Given the description of an element on the screen output the (x, y) to click on. 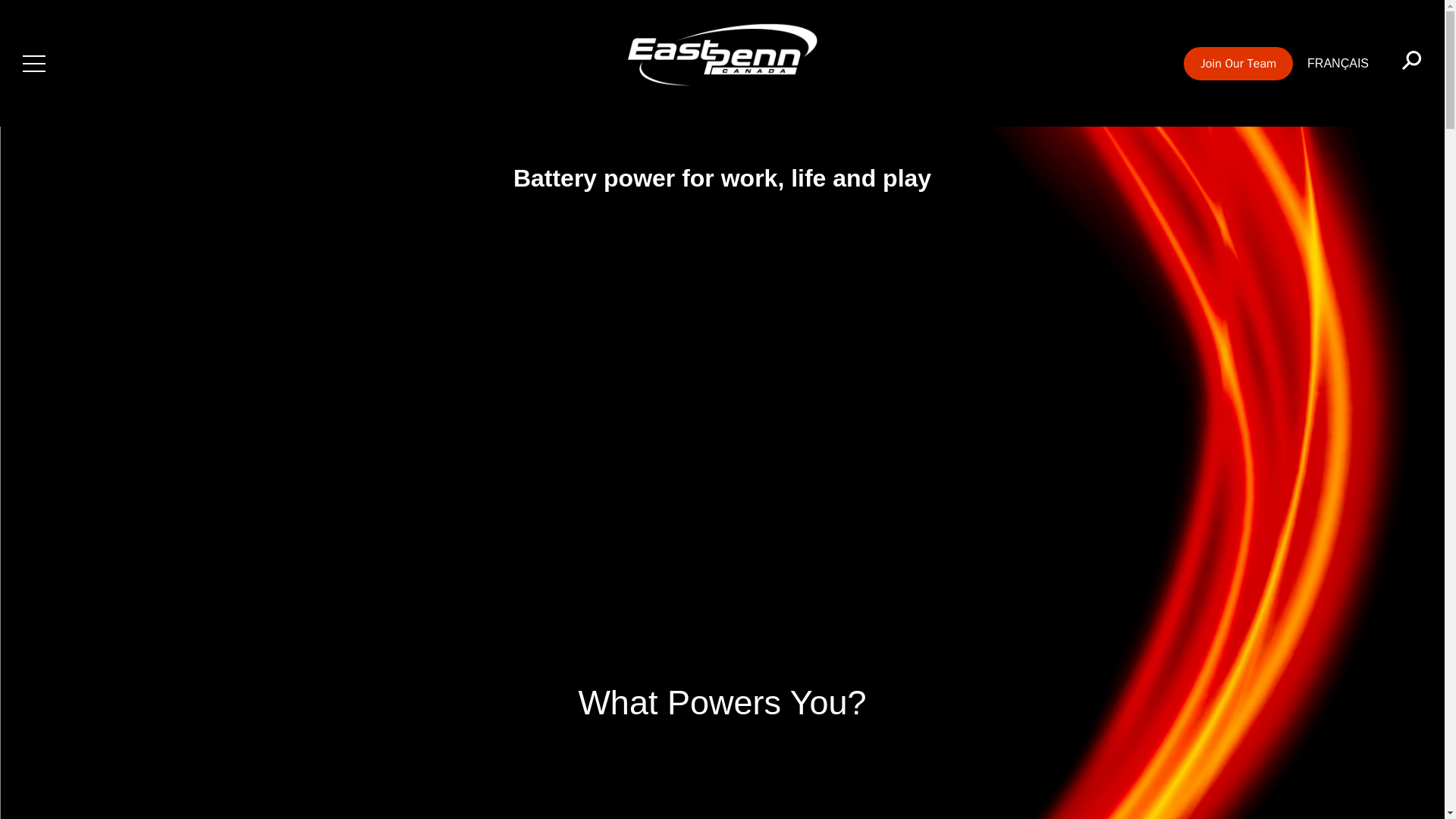
Lift Truck Application Battery Lookup (650, 794)
Join Our Team (1237, 63)
Transportation Application Battery Lookup (398, 794)
Contact Us (1100, 794)
Request Your Industrial Service Appointment (903, 794)
